Given the description of an element on the screen output the (x, y) to click on. 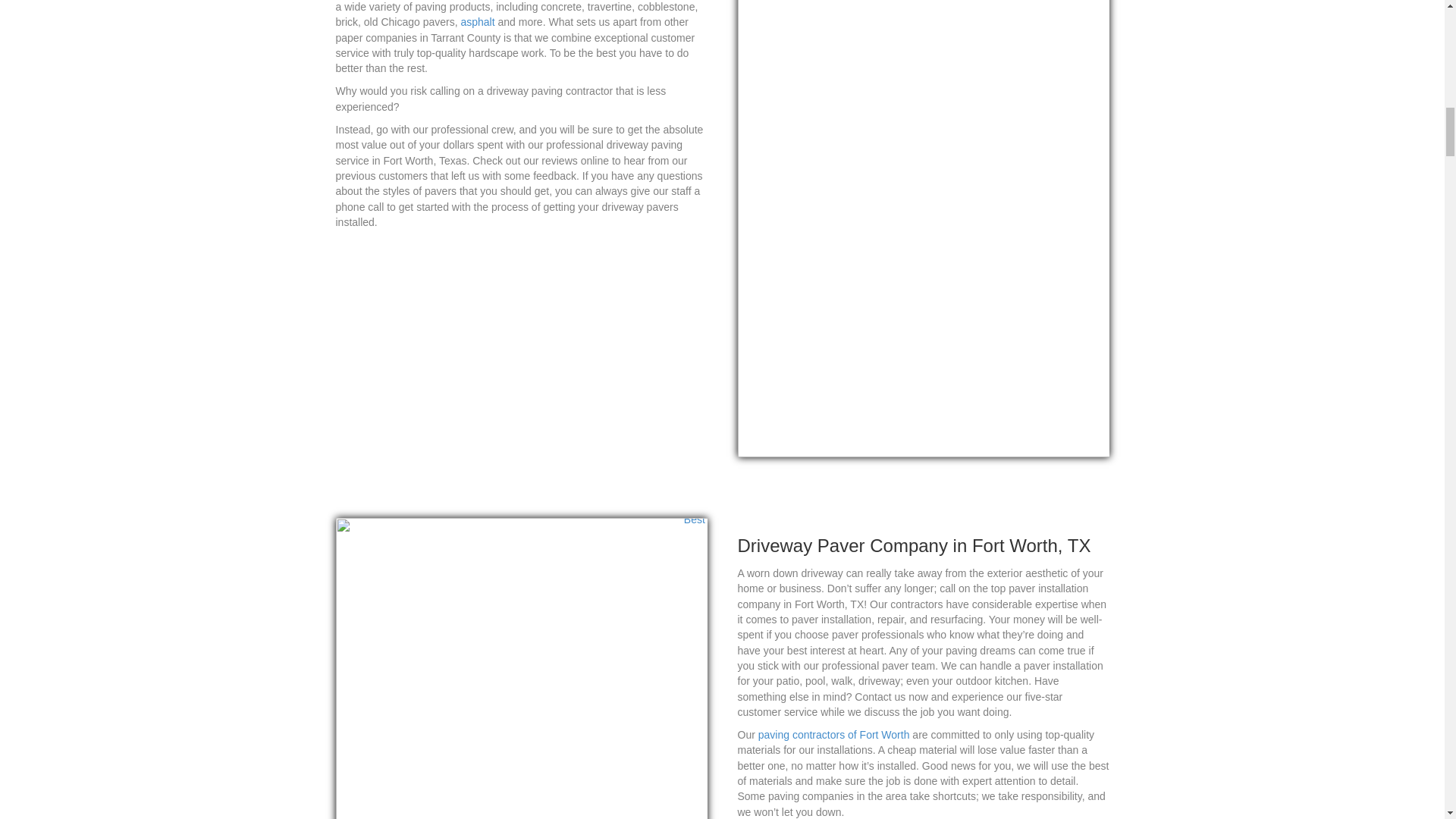
Best Paver Company in Southlake, Texas (520, 668)
asphalt (477, 21)
paving contractors of Fort Worth (834, 734)
